Given the description of an element on the screen output the (x, y) to click on. 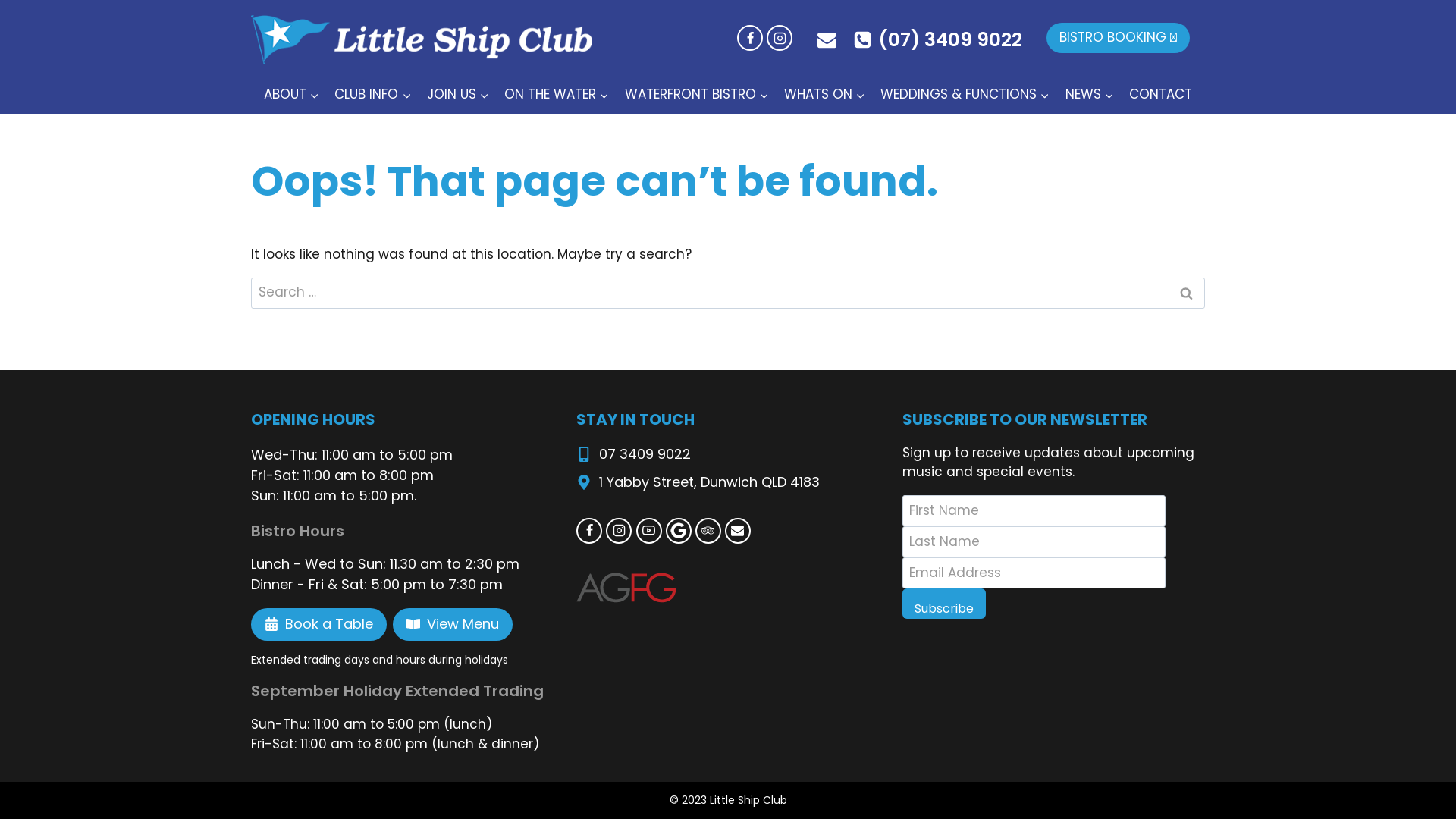
WATERFRONT BISTRO Element type: text (695, 94)
ON THE WATER Element type: text (556, 94)
WHATS ON Element type: text (824, 94)
ABOUT Element type: text (291, 94)
CLUB INFO Element type: text (372, 94)
Search Element type: text (1185, 292)
Subscribe Element type: text (943, 603)
(07) 3409 9022 Element type: text (937, 39)
1 Yabby Street, Dunwich QLD 4183 Element type: text (709, 481)
CONTACT Element type: text (1160, 94)
NEWS Element type: text (1088, 94)
07 3409 9022 Element type: text (633, 454)
View Menu Element type: text (452, 624)
WEDDINGS & FUNCTIONS Element type: text (964, 94)
JOIN US Element type: text (457, 94)
Book a Table Element type: text (318, 624)
